Given the description of an element on the screen output the (x, y) to click on. 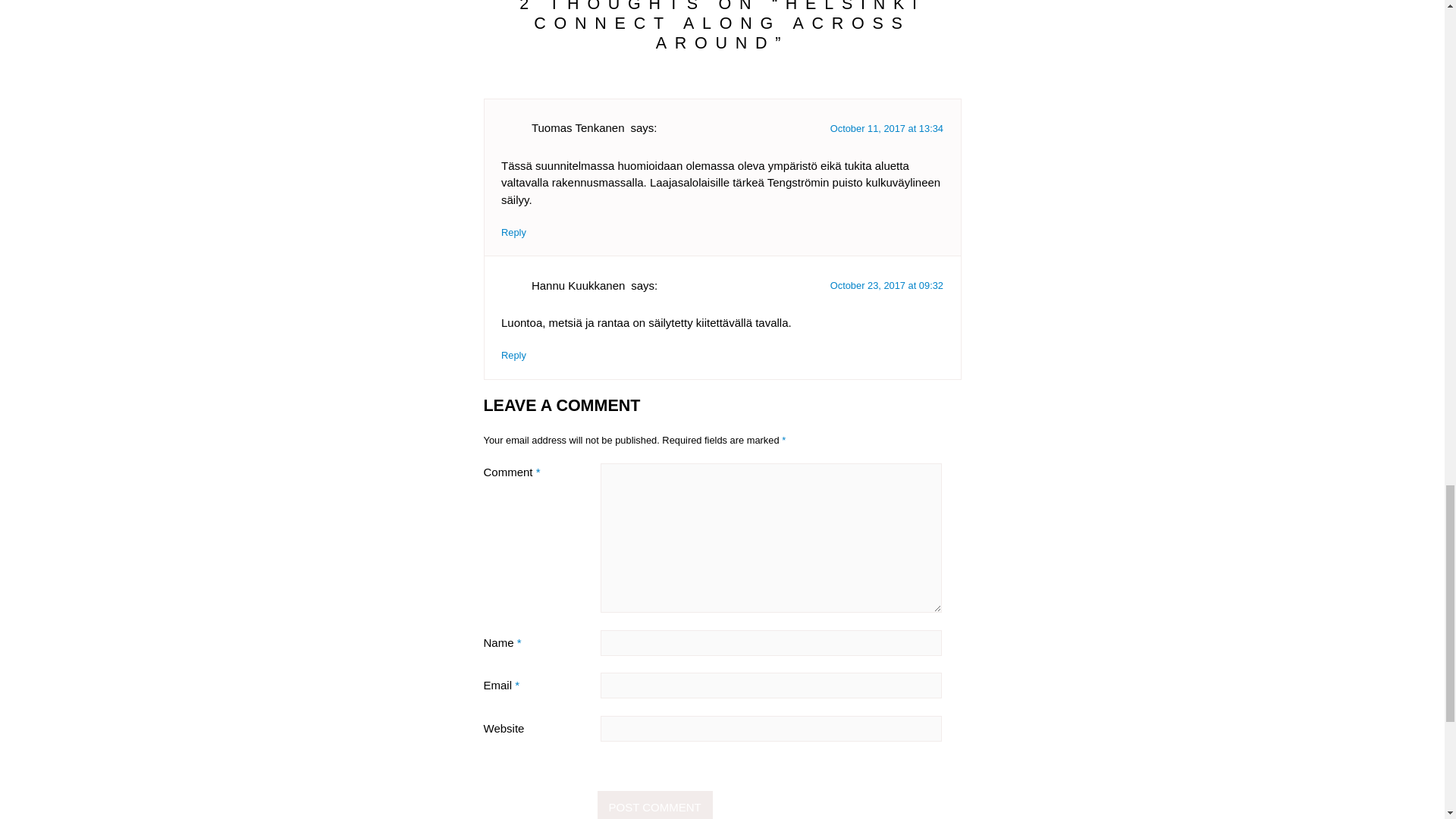
Reply (512, 355)
Reply (512, 232)
Post Comment (654, 805)
October 11, 2017 at 13:34 (886, 128)
Post Comment (654, 805)
October 23, 2017 at 09:32 (886, 285)
